Given the description of an element on the screen output the (x, y) to click on. 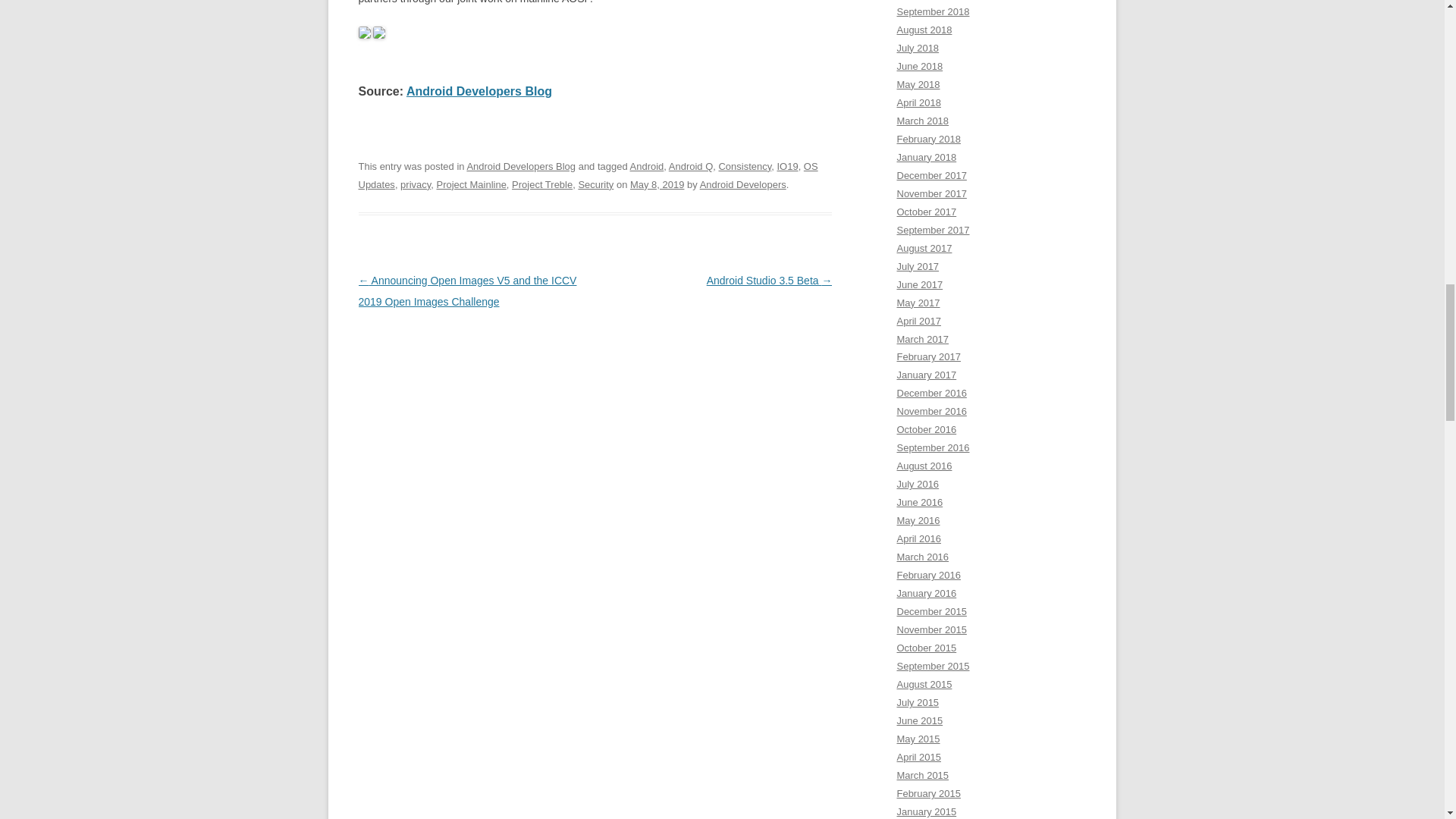
IO19 (786, 165)
Consistency (744, 165)
Android (646, 165)
Android Q (690, 165)
Security (595, 184)
View all posts by Android Developers (743, 184)
Project Treble (542, 184)
5:00 pm (657, 184)
Android Developers Blog (478, 91)
May 8, 2019 (657, 184)
privacy (415, 184)
OS Updates (587, 175)
Android Developers Blog (520, 165)
Android Developers (743, 184)
Project Mainline (470, 184)
